Given the description of an element on the screen output the (x, y) to click on. 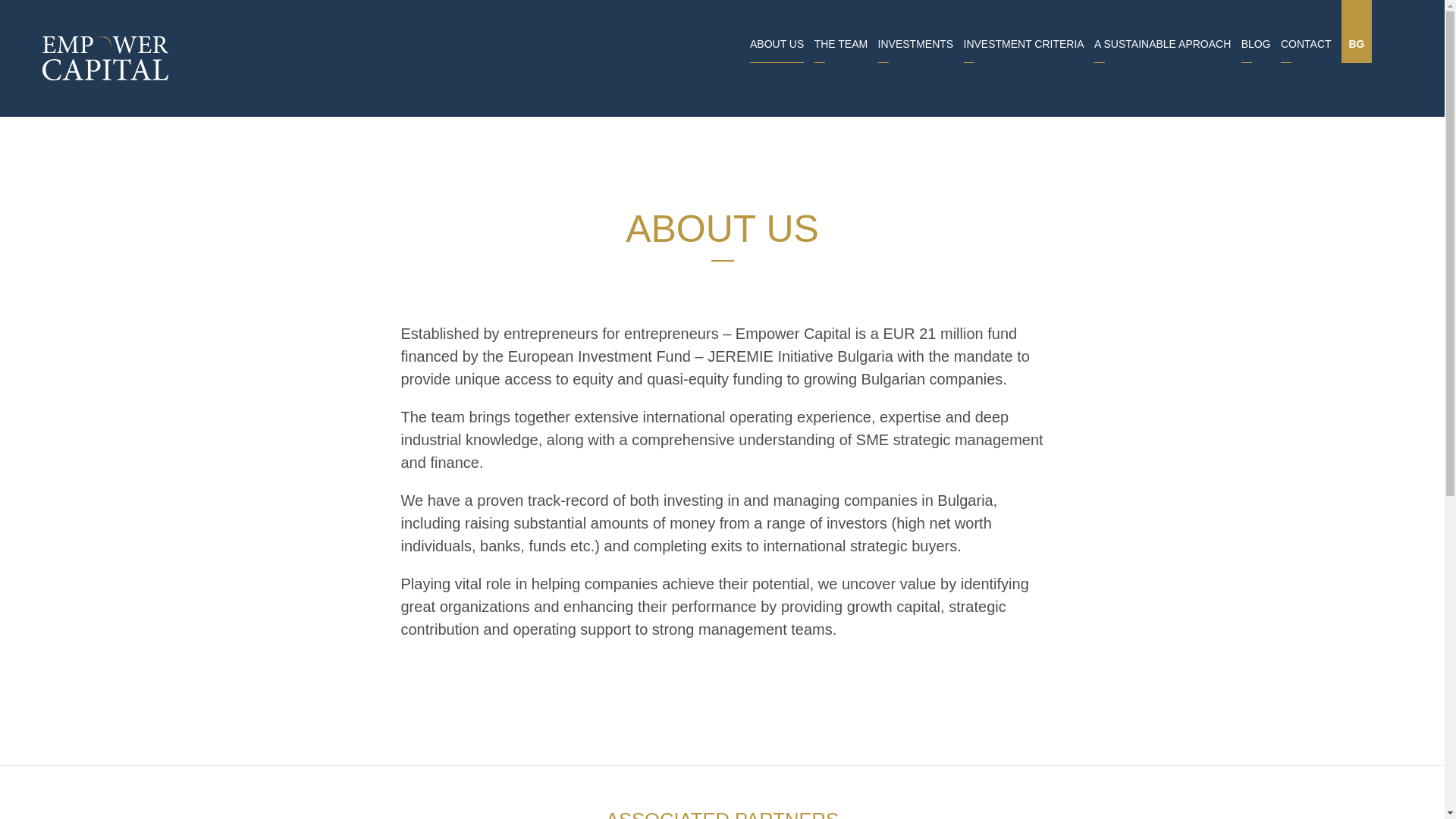
INVESTMENTS (915, 43)
INVESTMENT CRITERIA (1022, 43)
A SUSTAINABLE APROACH (1162, 43)
THE TEAM (840, 43)
ABOUT US (776, 43)
BG (1355, 31)
CONTACT (1306, 43)
BLOG (1256, 43)
